Given the description of an element on the screen output the (x, y) to click on. 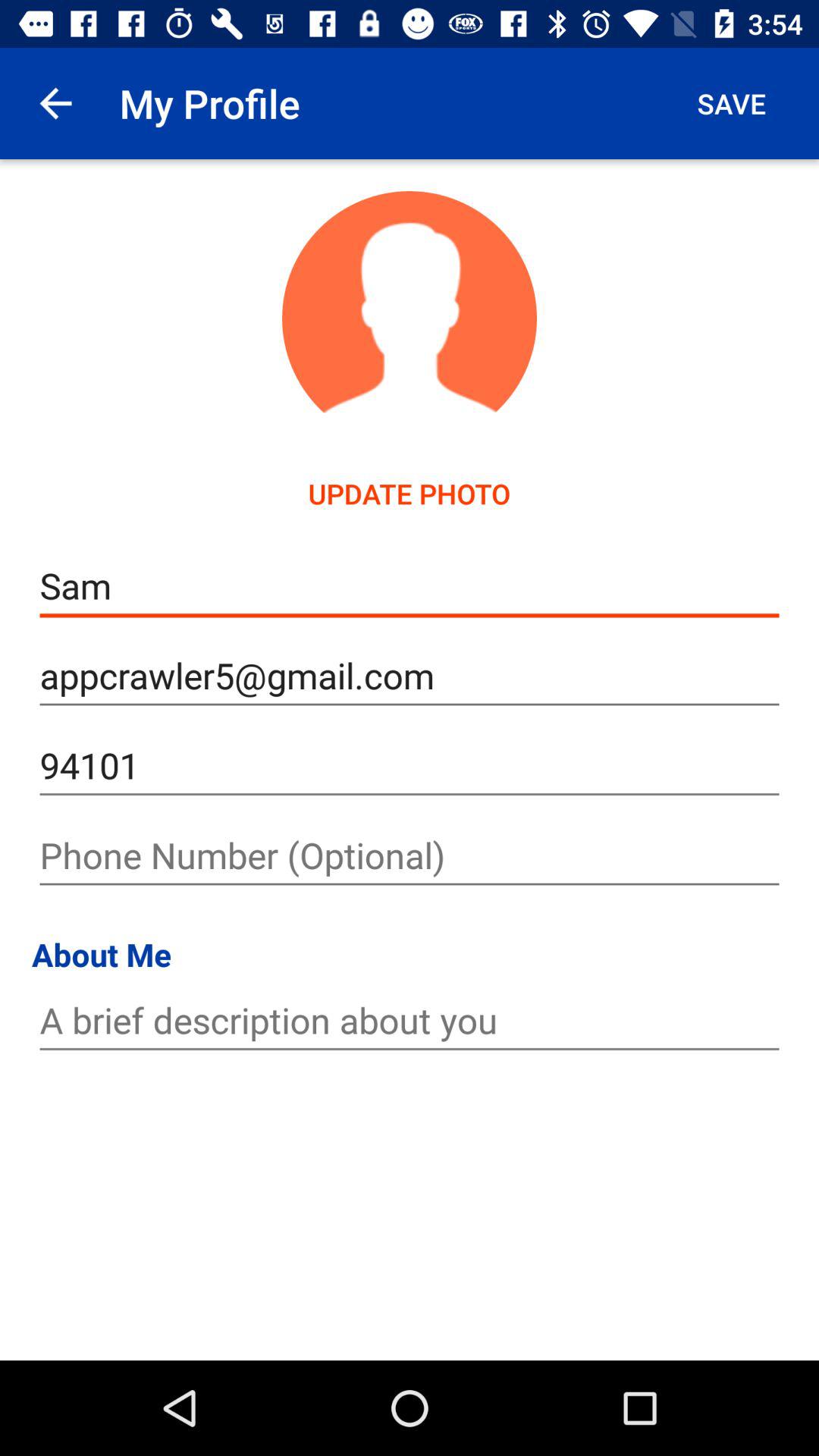
open appcrawler5@gmail.com icon (409, 676)
